Given the description of an element on the screen output the (x, y) to click on. 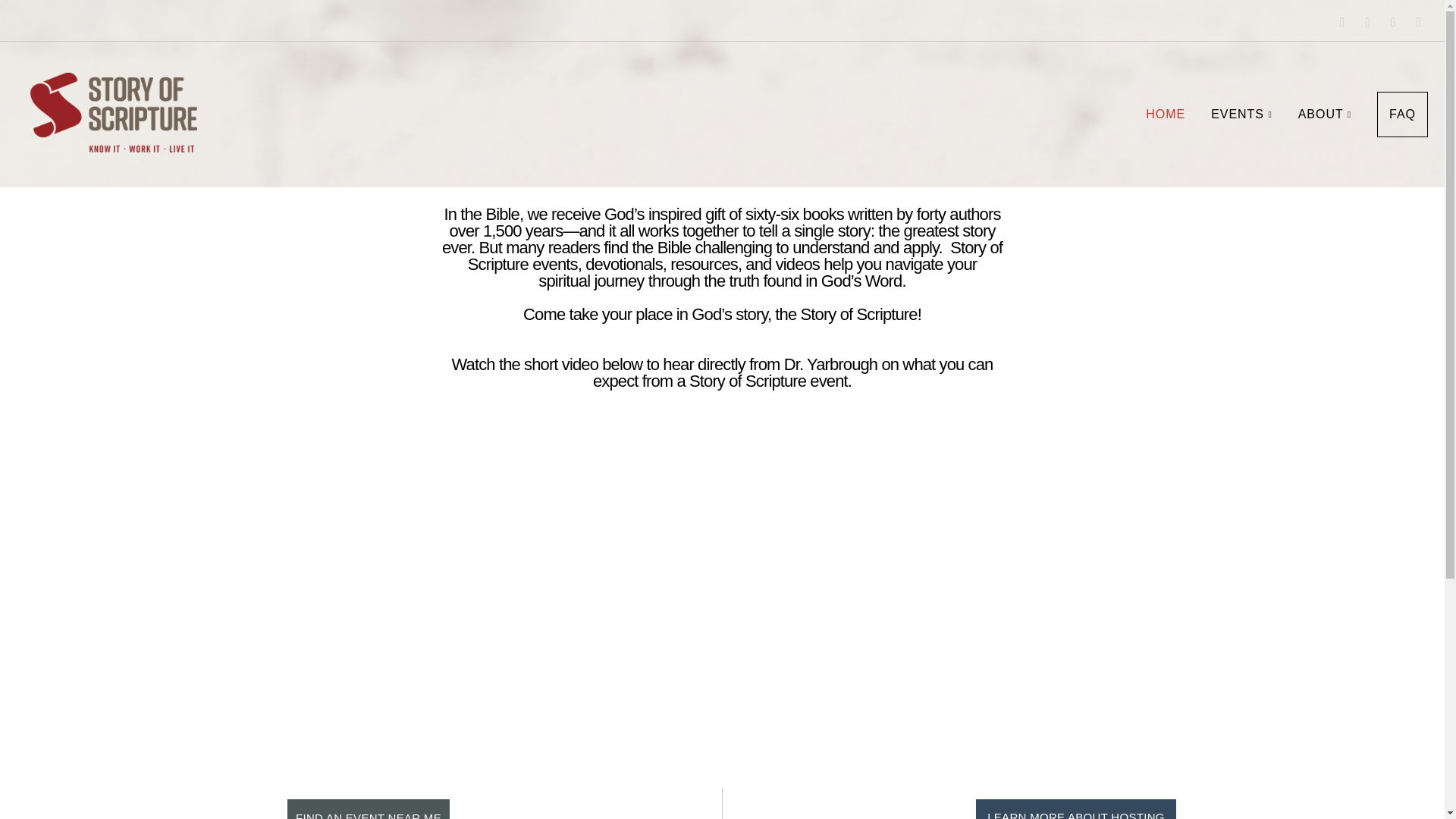
FIND AN EVENT NEAR ME (367, 809)
ABOUT  (1324, 114)
LEARN MORE ABOUT HOSTING (1075, 809)
FAQ (1402, 114)
HOME (1165, 114)
EVENTS  (1241, 114)
